Given the description of an element on the screen output the (x, y) to click on. 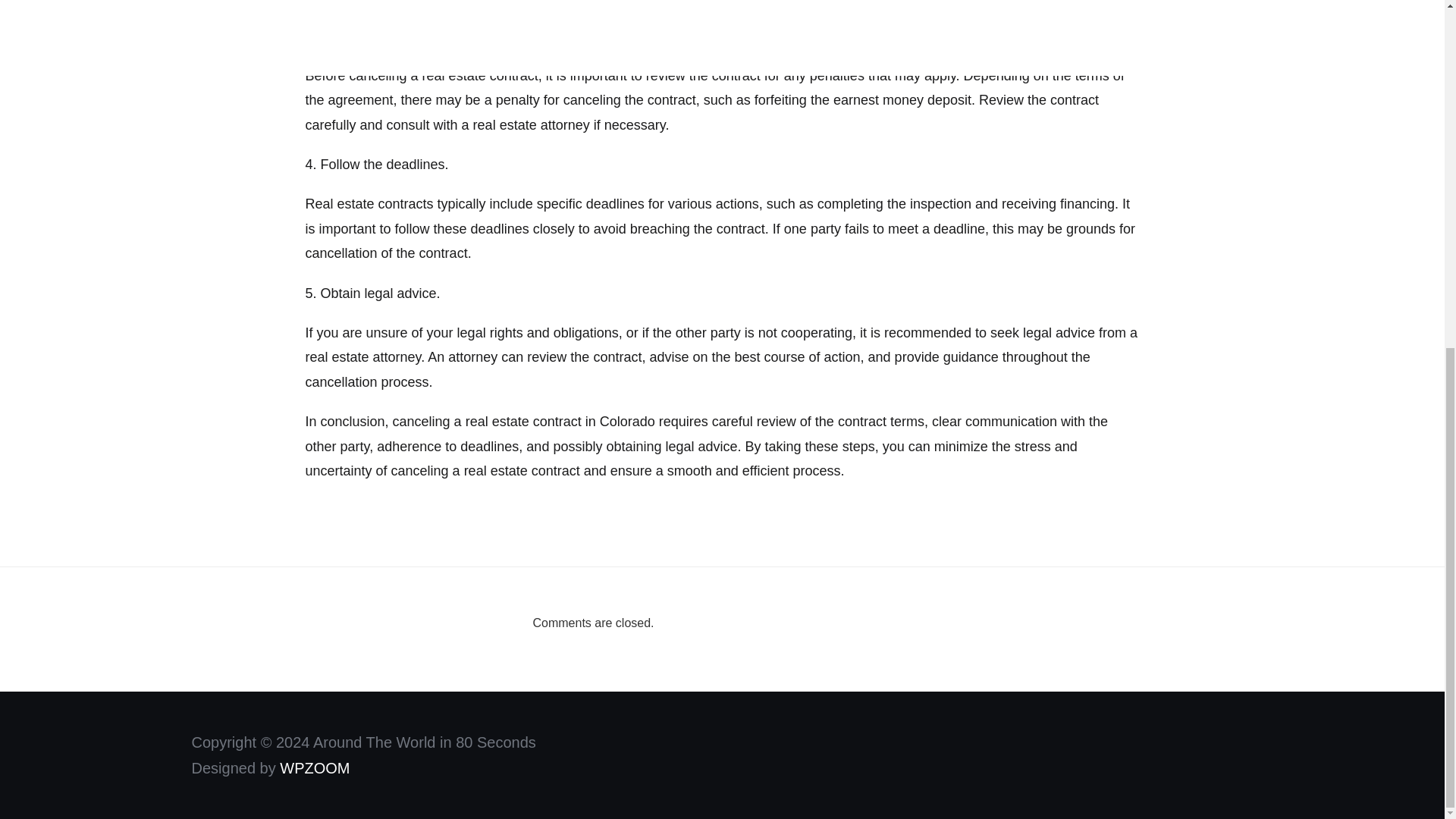
WPZOOM (314, 768)
